Given the description of an element on the screen output the (x, y) to click on. 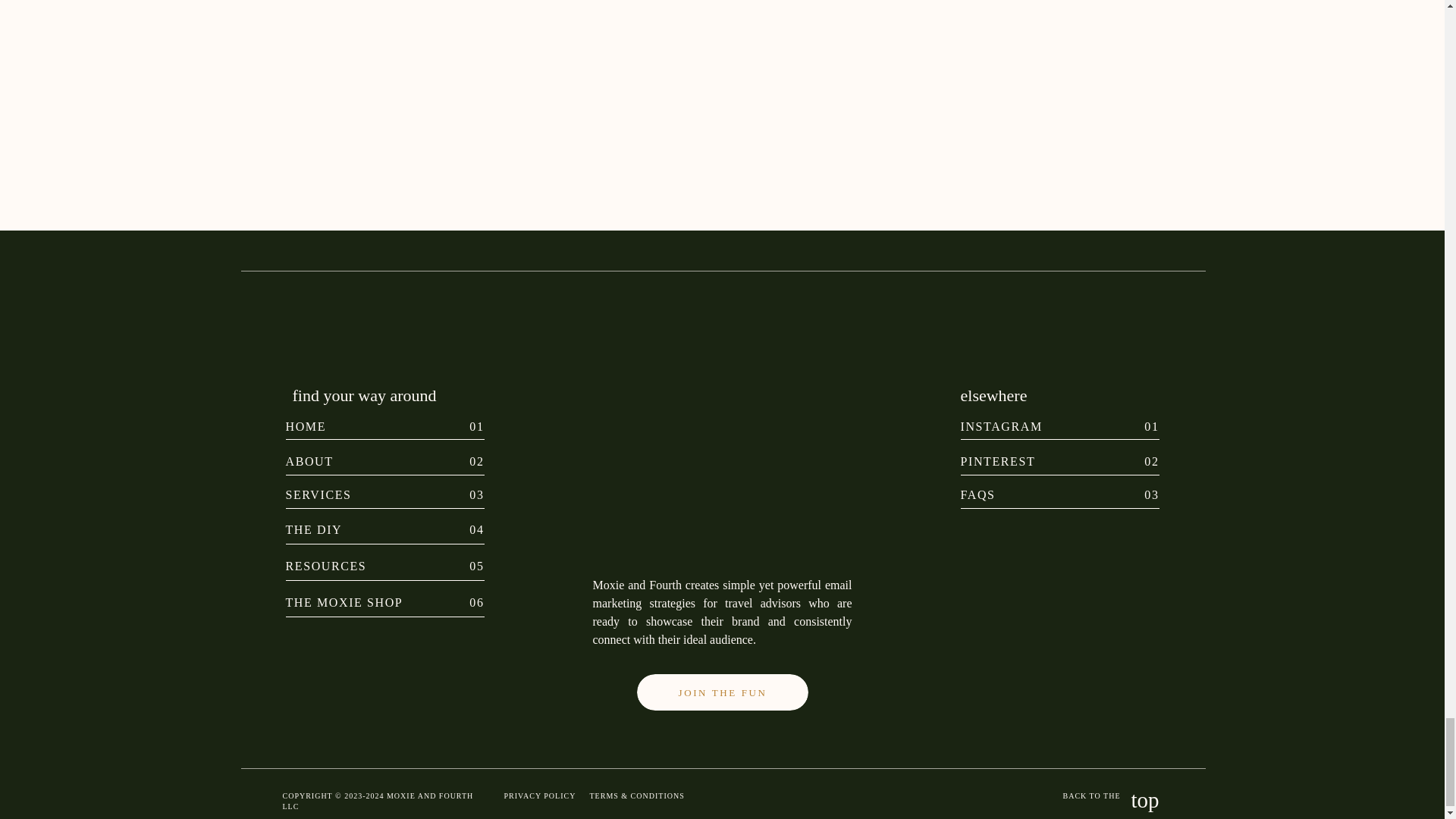
PINTEREST (1002, 459)
top (1129, 803)
02 (1130, 459)
FAQS (1002, 492)
THE MOXIE SHOP (372, 600)
BACK TO THE (1070, 797)
SERVICES (372, 492)
INSTAGRAM (1002, 424)
ABOUT (372, 459)
01 (1130, 424)
JOIN THE FUN (722, 698)
PRIVACY POLICY (541, 796)
THE DIY (372, 527)
RESOURCES (372, 563)
HOME (372, 424)
